Given the description of an element on the screen output the (x, y) to click on. 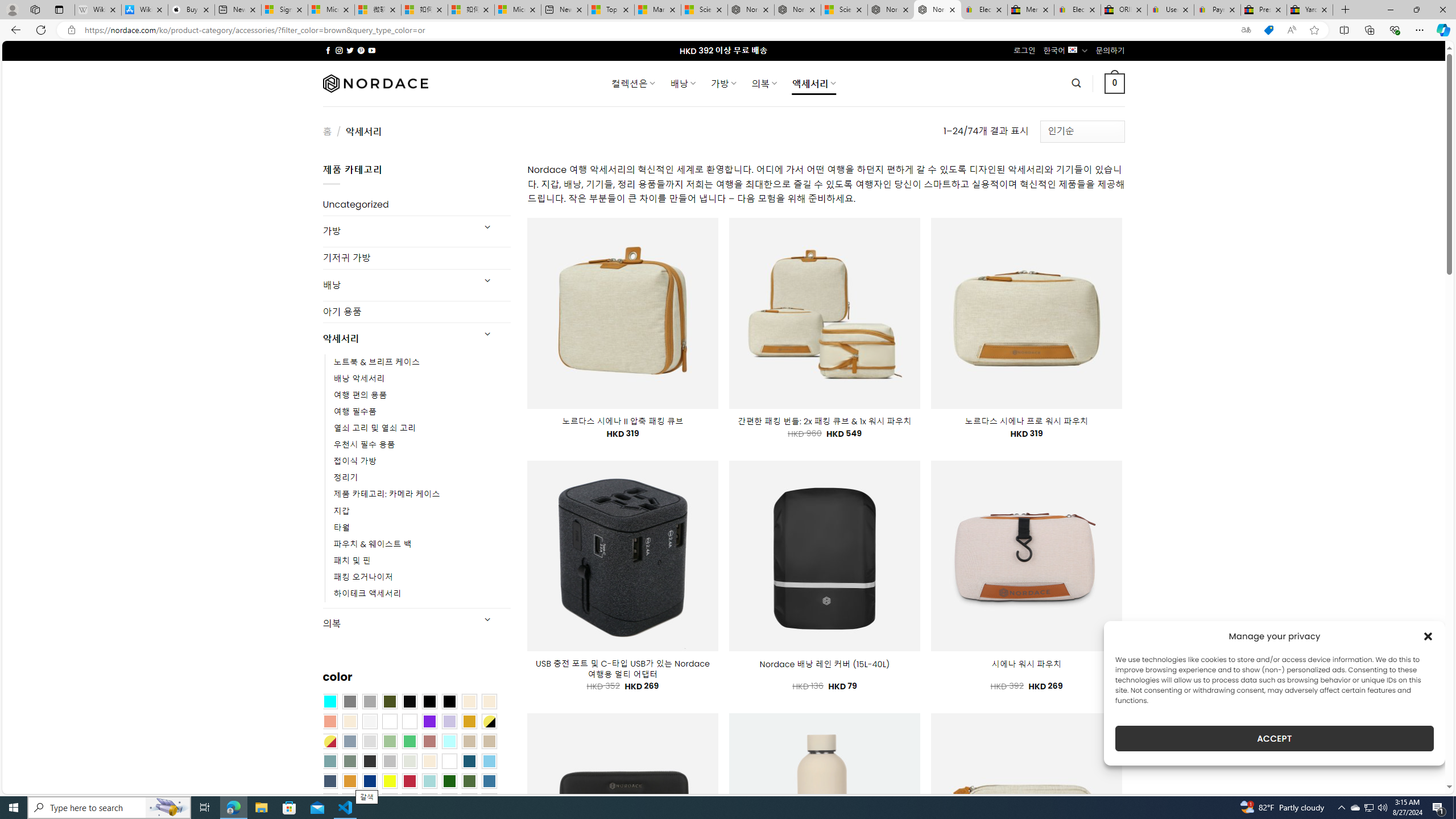
Press Room - eBay Inc. (1263, 9)
Coral (329, 721)
Follow on YouTube (371, 50)
